Given the description of an element on the screen output the (x, y) to click on. 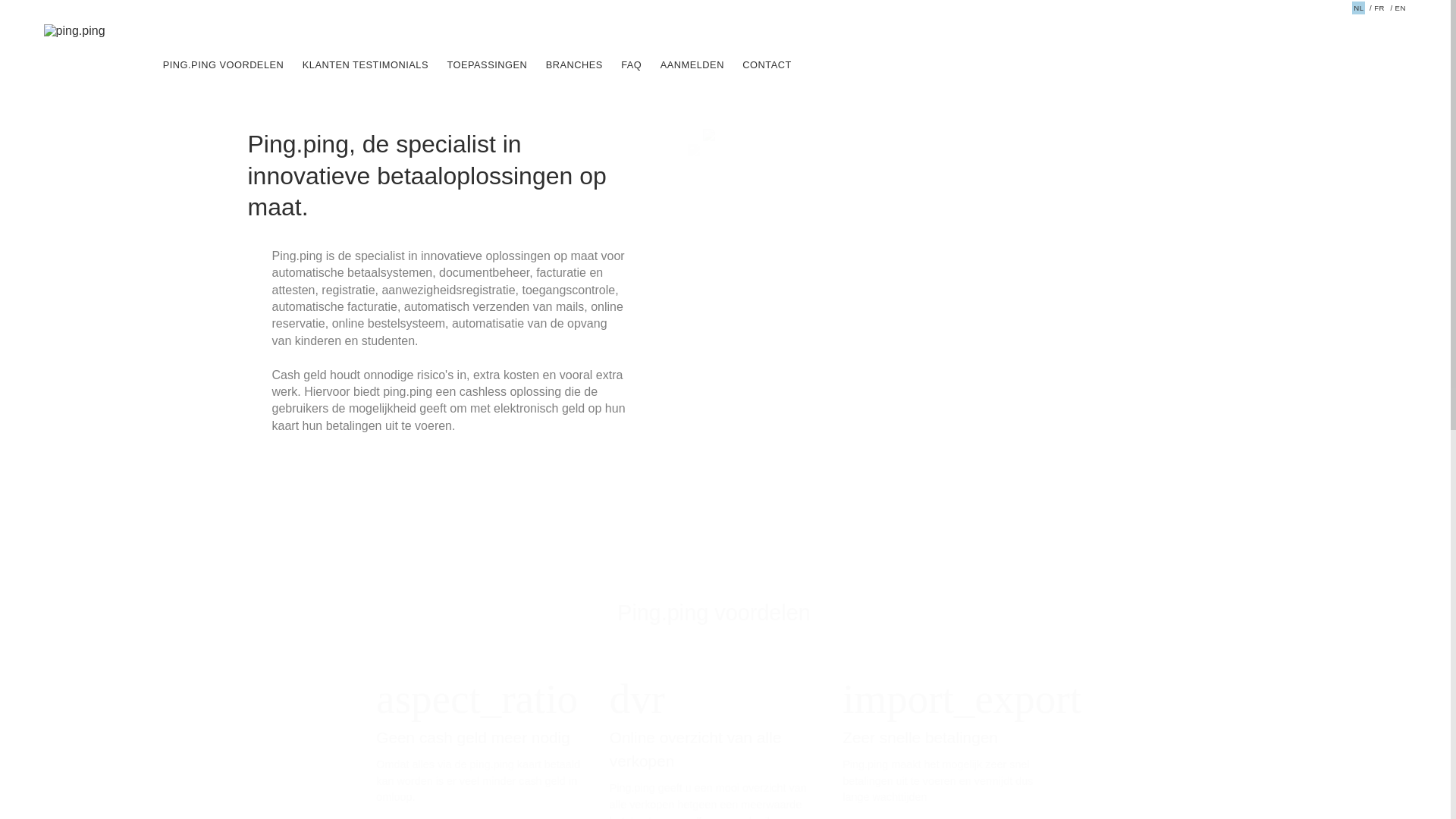
CONTACT Element type: text (767, 64)
x Element type: text (743, 424)
BRANCHES Element type: text (574, 64)
TOEPASSINGEN Element type: text (486, 64)
PING.PING VOORDELEN Element type: text (223, 64)
FAQ Element type: text (630, 64)
privacy policy Element type: text (757, 414)
AANMELDEN Element type: text (692, 64)
ping.ping Element type: hover (74, 30)
FR Element type: text (1376, 7)
EN Element type: text (1398, 7)
KLANTEN TESTIMONIALS Element type: text (365, 64)
NL Element type: text (1358, 7)
